Given the description of an element on the screen output the (x, y) to click on. 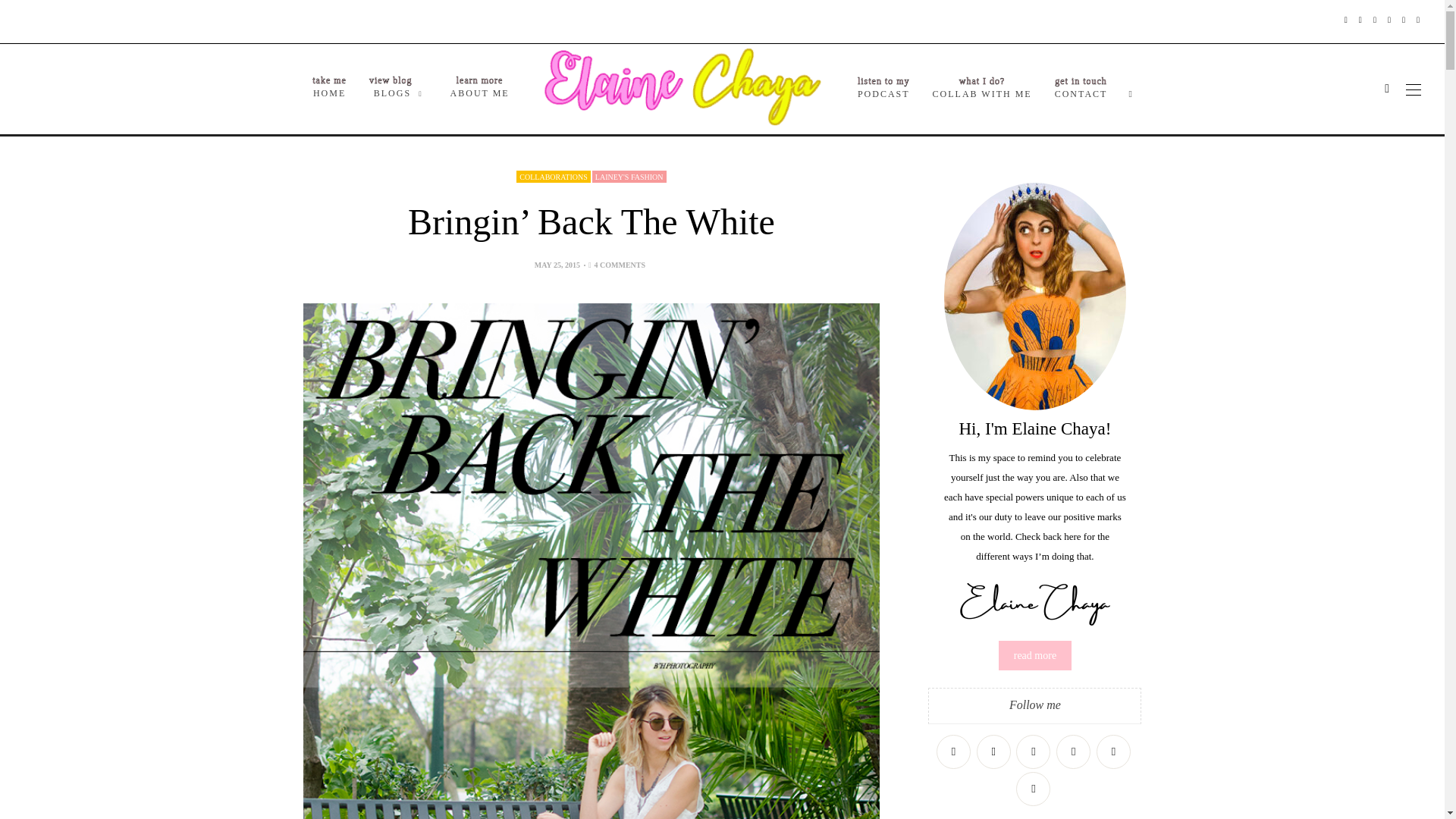
signature (1035, 603)
